Given the description of an element on the screen output the (x, y) to click on. 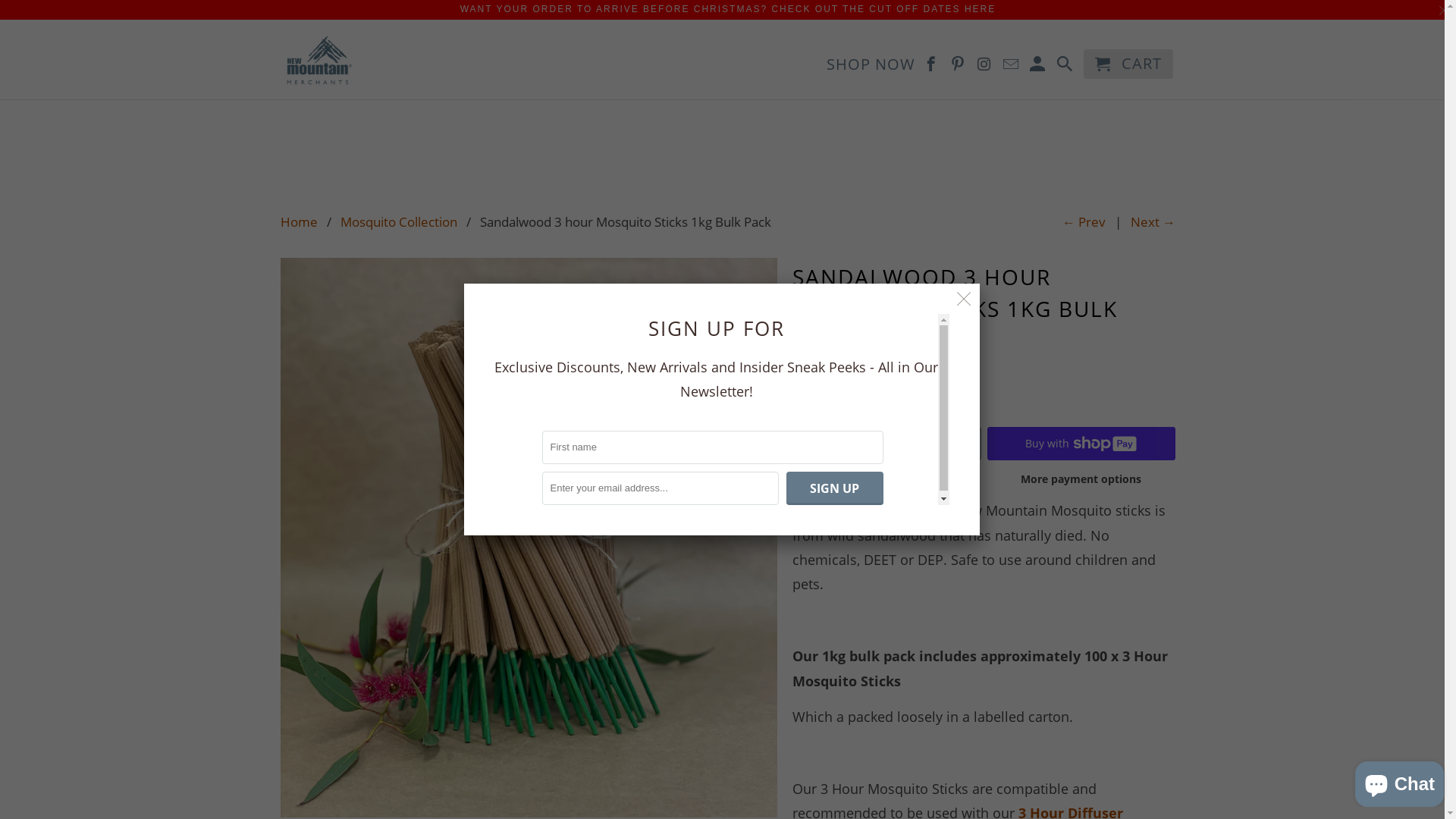
Email New Mountain Merchants Element type: hover (1012, 66)
Search Element type: hover (1066, 66)
New Mountain Merchants Element type: hover (318, 59)
Close Element type: hover (963, 298)
Shopify online store chat Element type: hover (1399, 780)
SHOP NOW Element type: text (870, 67)
New Mountain Merchants on Facebook Element type: hover (932, 66)
CART Element type: text (1128, 63)
Home Element type: text (298, 221)
More payment options Element type: text (1080, 483)
New Mountain Merchants on Instagram Element type: hover (985, 66)
Sign Up Element type: text (833, 488)
sandalwood mosquito sticks  Element type: hover (528, 537)
My Account  Element type: hover (1038, 66)
ADD TO CART Element type: text (886, 443)
New Mountain Merchants on Pinterest Element type: hover (959, 66)
Mosquito Collection Element type: text (398, 221)
